Given the description of an element on the screen output the (x, y) to click on. 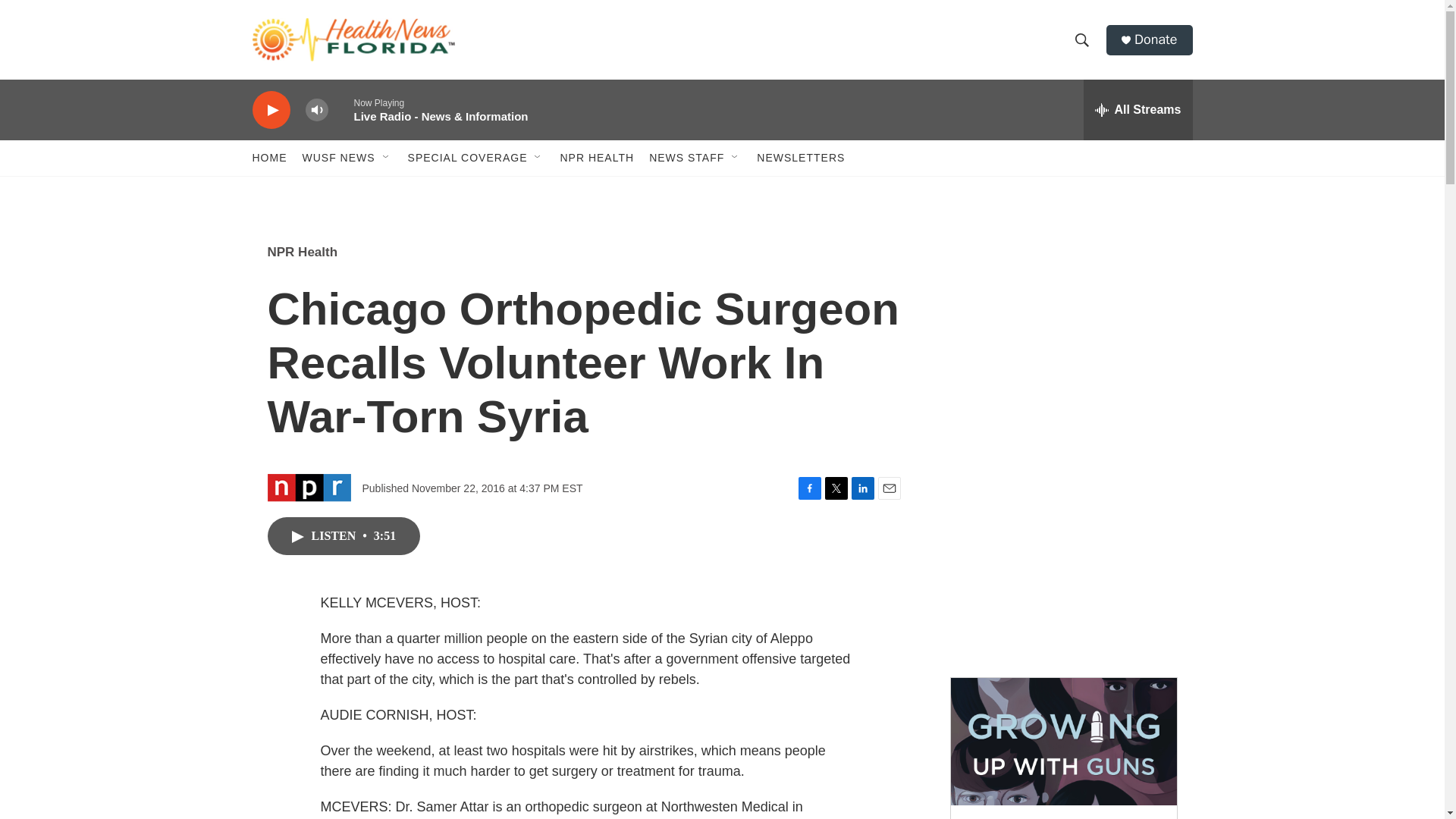
3rd party ad content (1062, 331)
3rd party ad content (1062, 552)
